Given the description of an element on the screen output the (x, y) to click on. 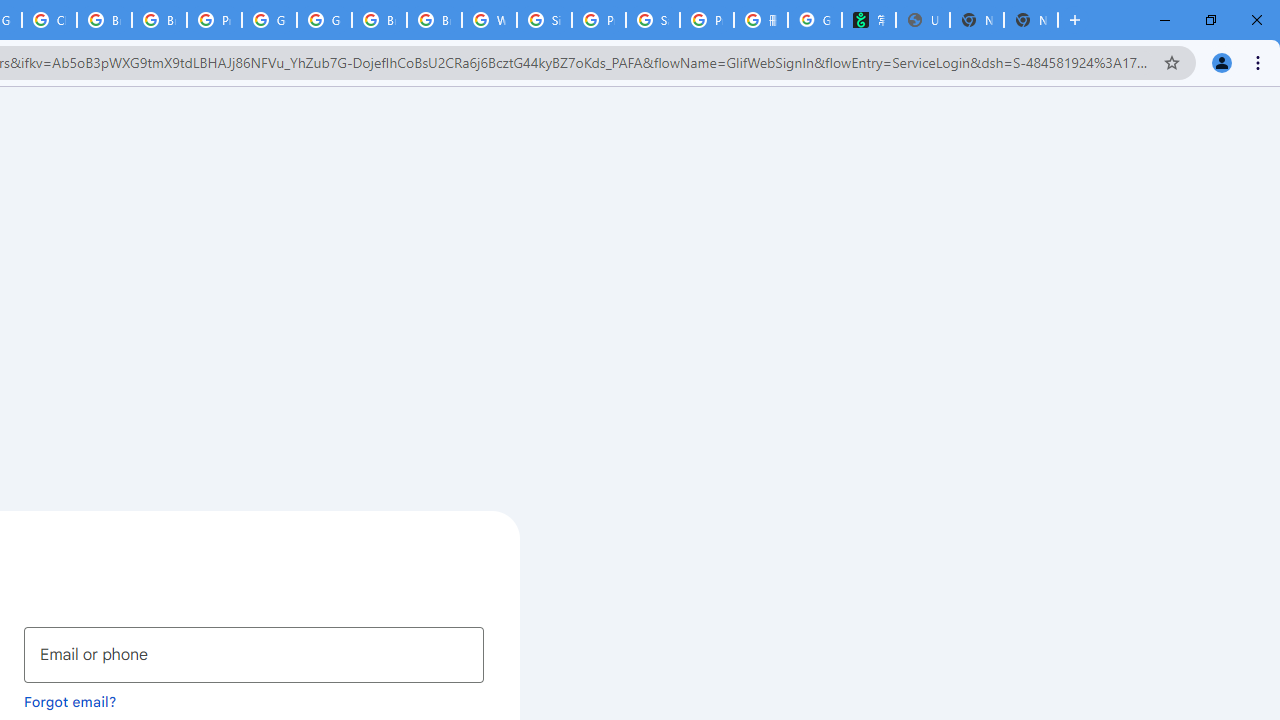
Browse Chrome as a guest - Computer - Google Chrome Help (103, 20)
Browse Chrome as a guest - Computer - Google Chrome Help (379, 20)
Forgot email? (70, 701)
Browse Chrome as a guest - Computer - Google Chrome Help (434, 20)
Google Cloud Platform (324, 20)
